Given the description of an element on the screen output the (x, y) to click on. 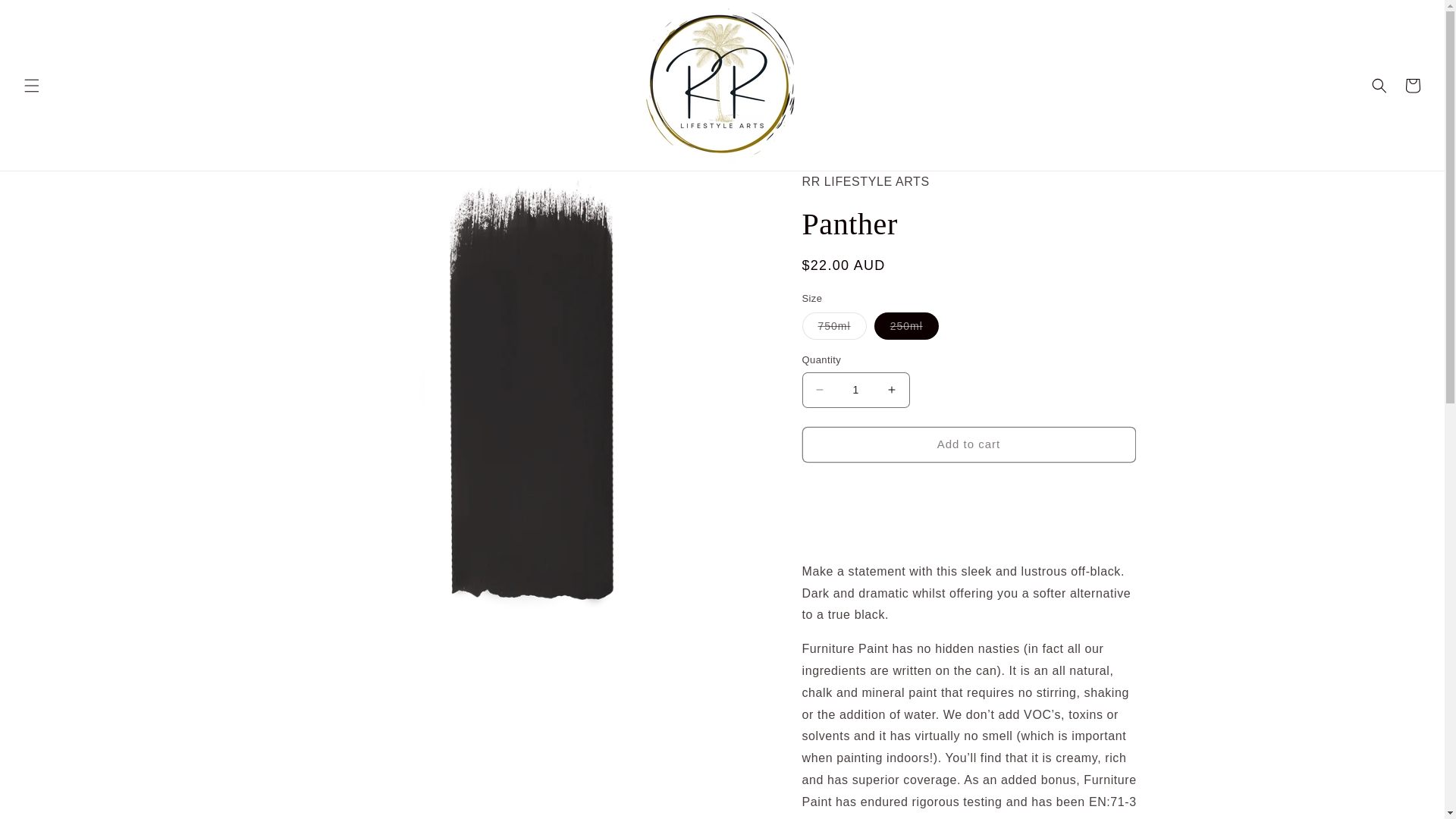
Skip to content (45, 17)
1 (856, 389)
